Given the description of an element on the screen output the (x, y) to click on. 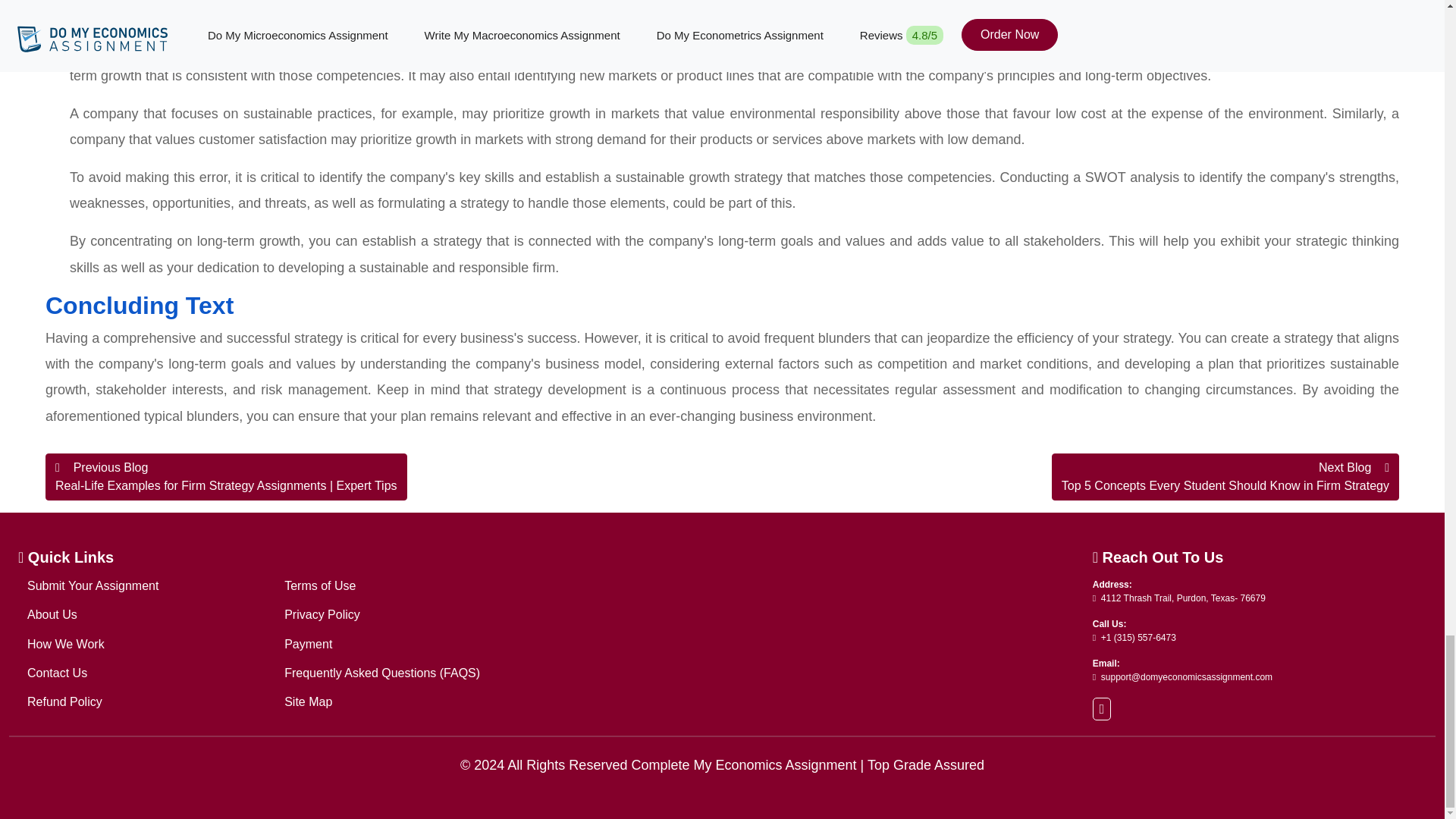
Privacy Policy (321, 614)
Contact Us (57, 672)
Submit Your Assignment (92, 585)
Refund Policy (64, 701)
Payment (307, 644)
How We Work (65, 644)
Terms of Use (319, 585)
Site Map (307, 701)
About Us (52, 614)
